Given the description of an element on the screen output the (x, y) to click on. 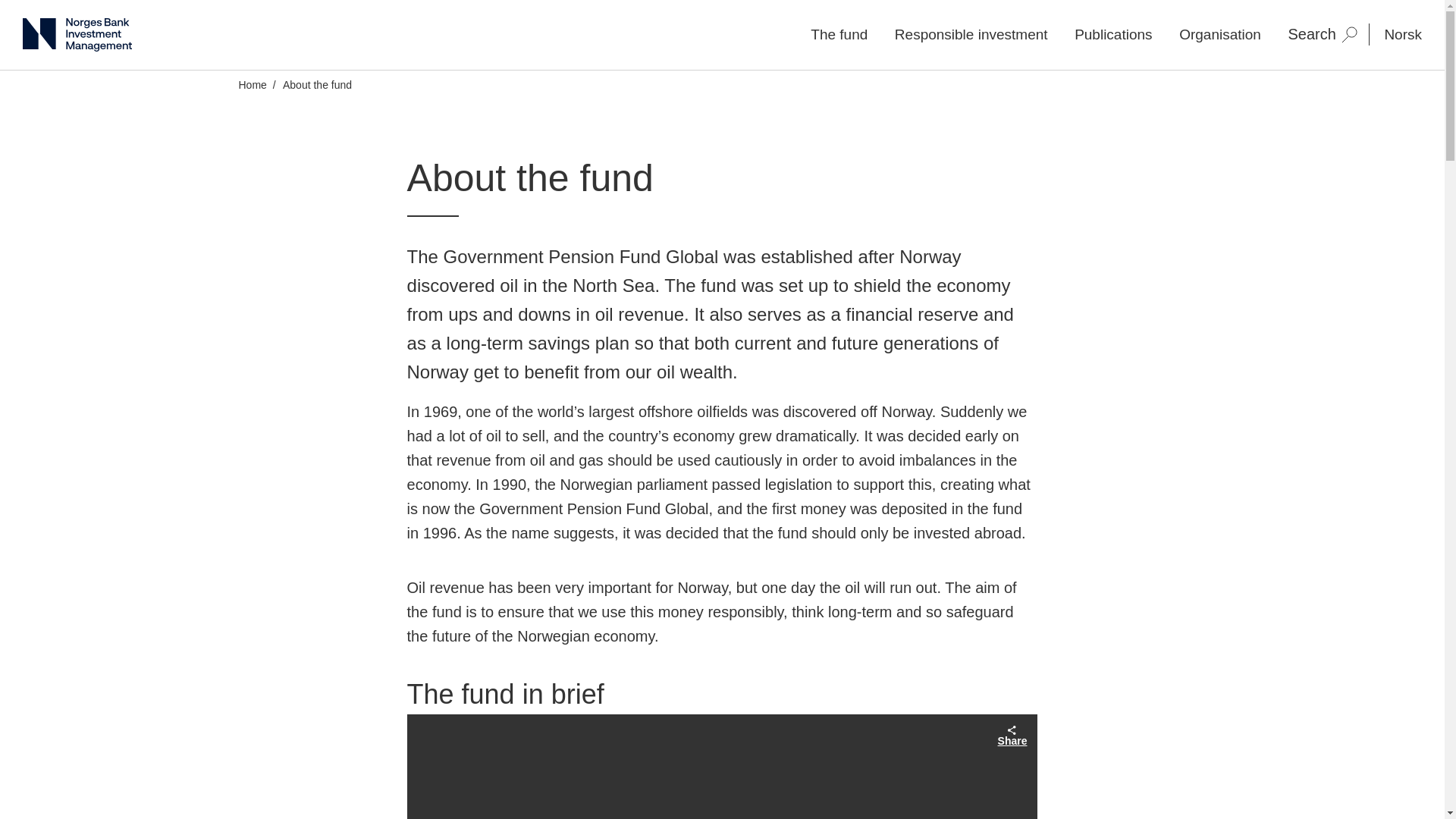
Share (1011, 735)
Share (1011, 735)
About the fund (317, 84)
Responsible investment (971, 34)
Home (252, 84)
Search (1321, 34)
The fund (838, 34)
Organisation (1219, 34)
Norsk (1403, 34)
Norsk (1403, 34)
